Given the description of an element on the screen output the (x, y) to click on. 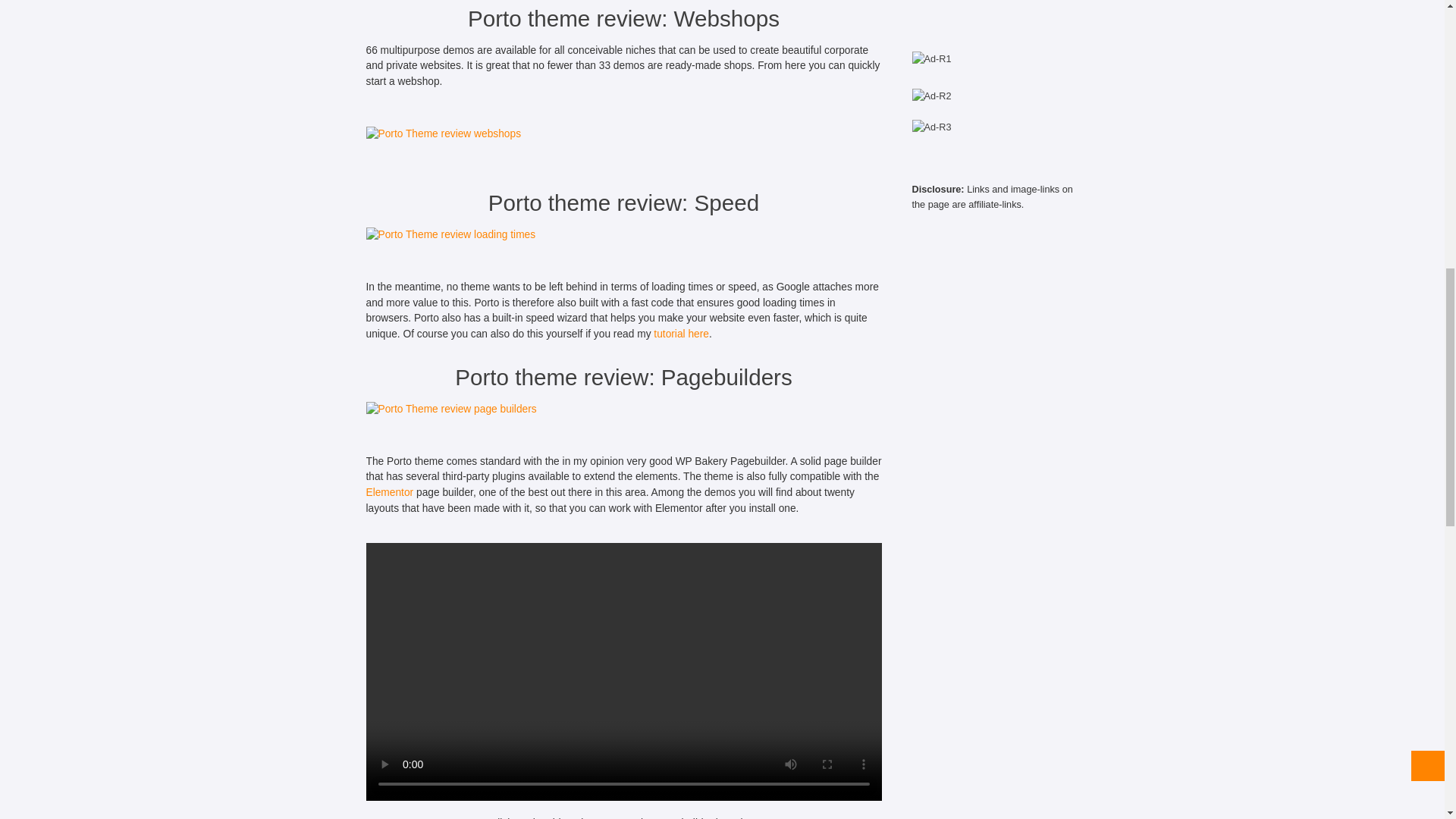
Elementor (389, 491)
Porto review page builders (450, 409)
Porto review webshops (443, 134)
Porto review speed (450, 235)
tutorial here (681, 333)
